Given the description of an element on the screen output the (x, y) to click on. 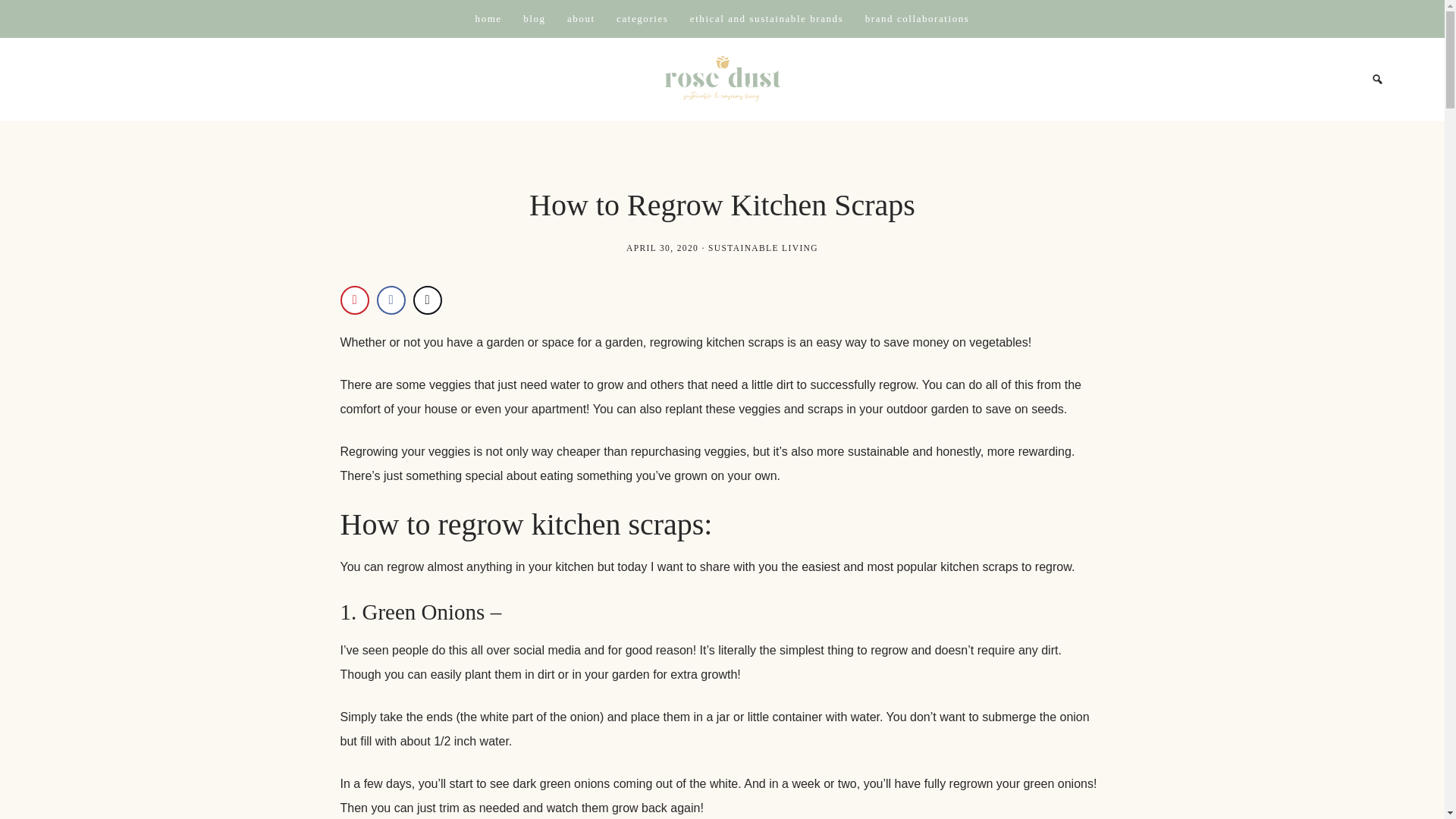
a little rose dust (722, 79)
home (488, 18)
SUSTAINABLE LIVING (762, 247)
blog (533, 18)
ethical and sustainable brands (766, 18)
brand collaborations (917, 18)
about (580, 18)
categories (642, 18)
